Given the description of an element on the screen output the (x, y) to click on. 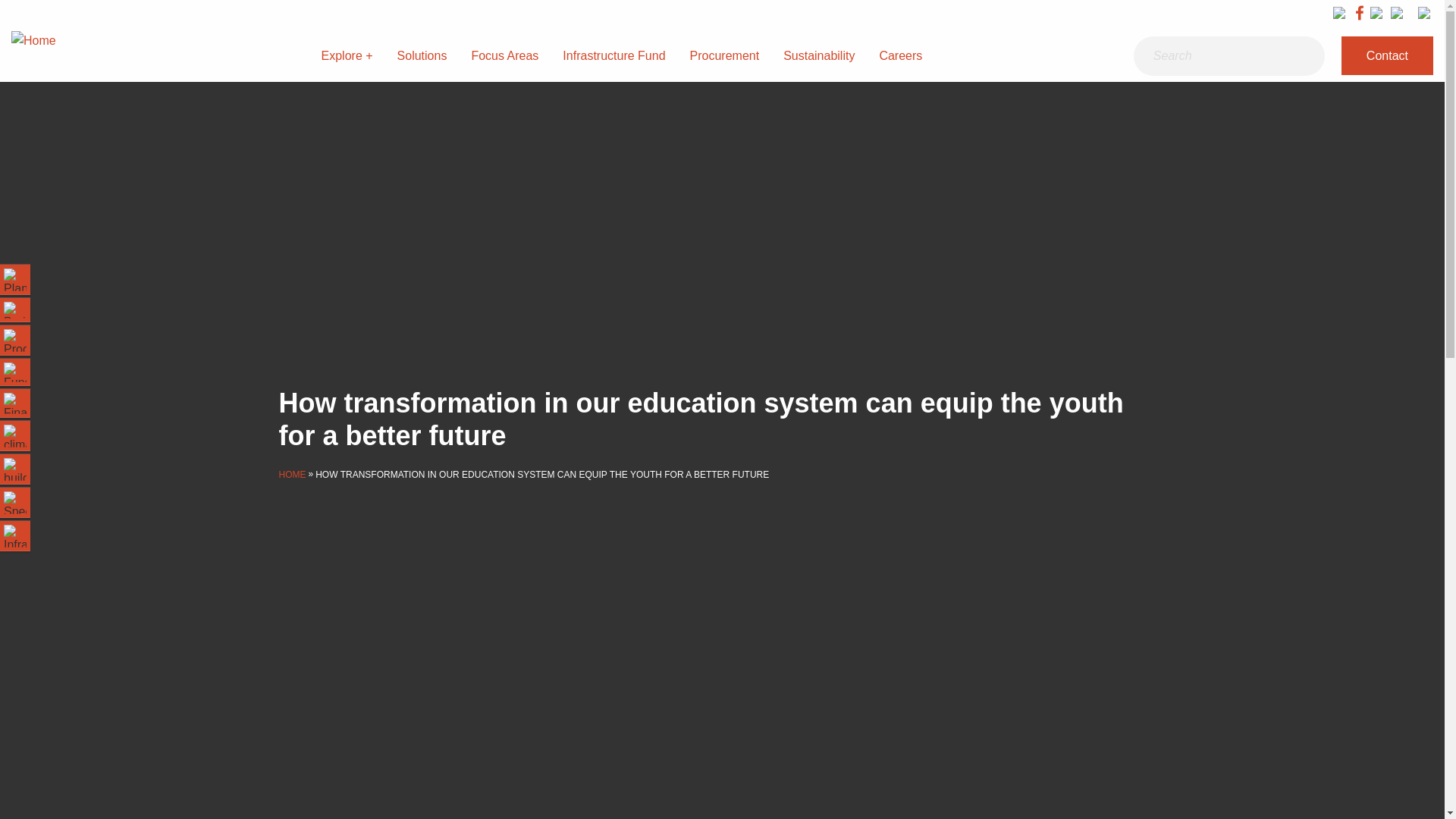
Solutions (422, 55)
Apply (1304, 56)
